Given the description of an element on the screen output the (x, y) to click on. 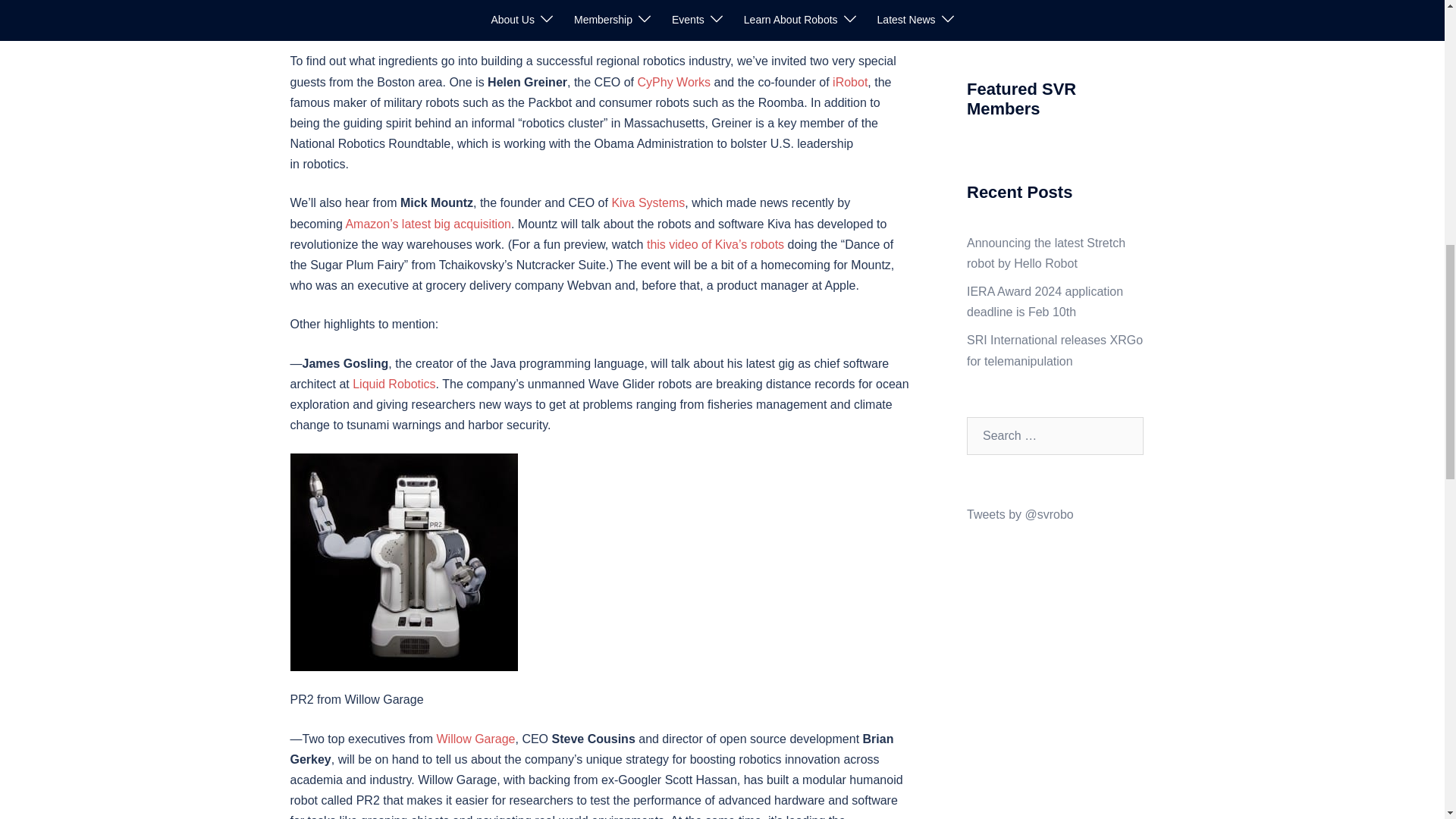
Beta-Media-640w-3-300x287 (402, 561)
